Given the description of an element on the screen output the (x, y) to click on. 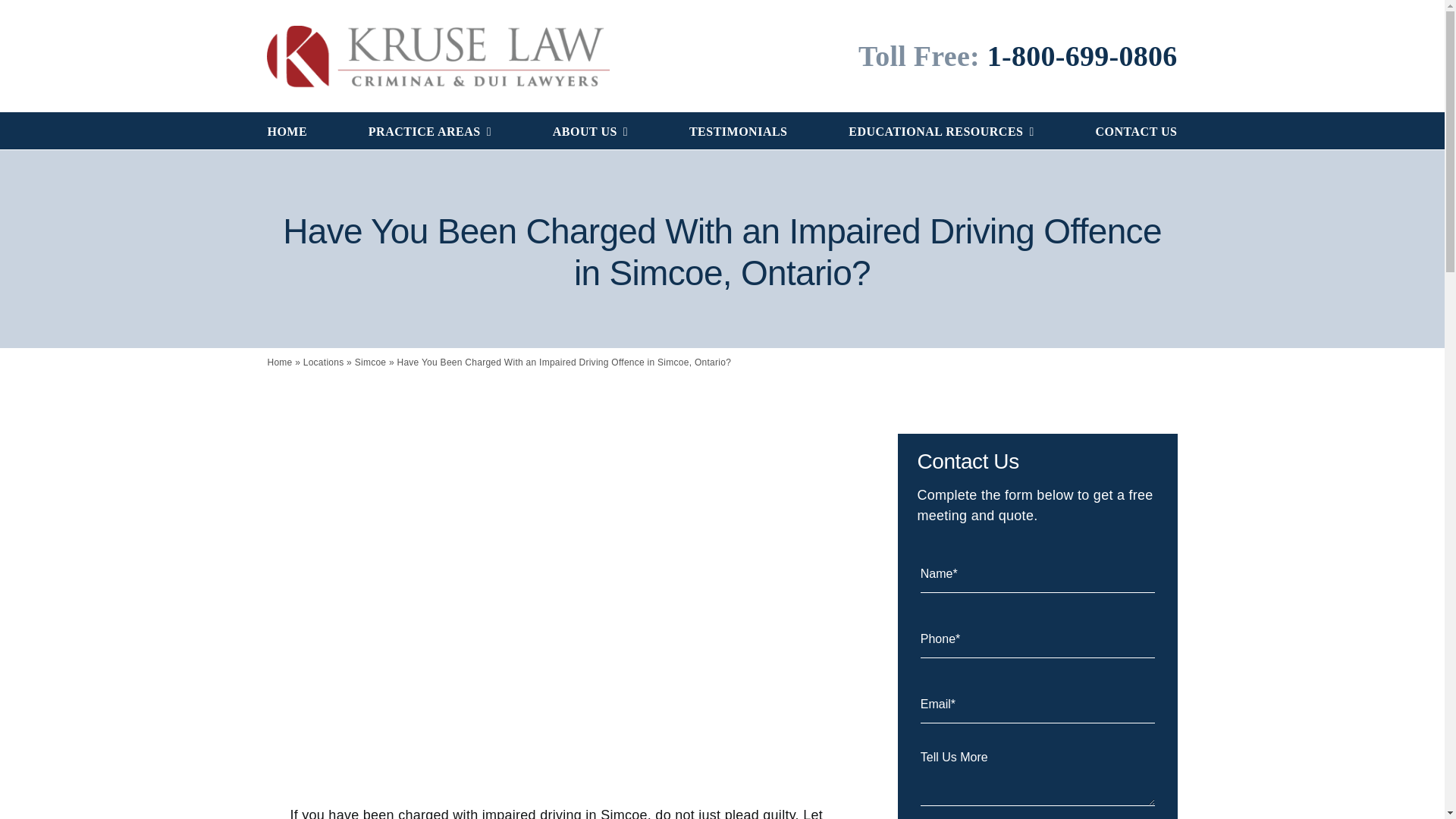
CONTACT US (1135, 130)
PRACTICE AREAS (430, 130)
ABOUT US (590, 130)
EDUCATIONAL RESOURCES (940, 130)
HOME (286, 130)
1-800-699-0806 (1082, 56)
TESTIMONIALS (737, 130)
